Given the description of an element on the screen output the (x, y) to click on. 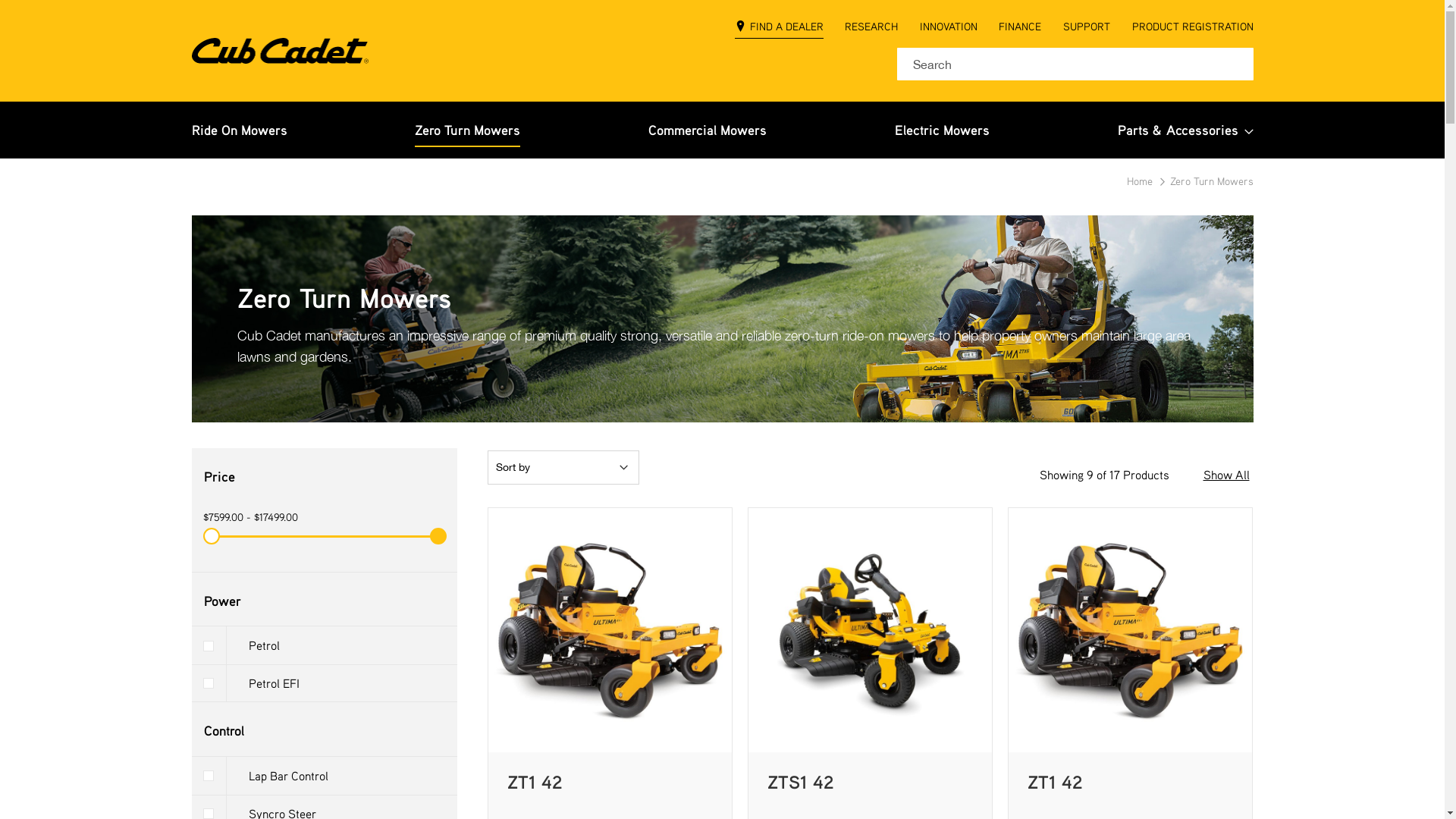
INNOVATION Element type: text (948, 27)
Zero Turn Mowers Element type: text (467, 129)
Petrol EFI Element type: text (323, 683)
Petrol Element type: text (323, 645)
ZT1 42 Element type: text (533, 781)
Parts & Accessories Element type: text (1185, 129)
FINANCE Element type: text (1019, 27)
Lap Bar Control Element type: text (323, 775)
Home Element type: text (1140, 180)
Show All Element type: text (1225, 474)
RESEARCH Element type: text (870, 27)
ZT1 42 Element type: text (1054, 781)
Ride On Mowers Element type: text (238, 129)
ZTS1 42 Element type: text (800, 781)
Cub Cadet Element type: hover (279, 50)
PRODUCT REGISTRATION Element type: text (1191, 27)
Commercial Mowers Element type: text (707, 129)
Electric Mowers Element type: text (941, 129)
SUPPORT Element type: text (1086, 27)
FIND A DEALER Element type: text (778, 28)
